Given the description of an element on the screen output the (x, y) to click on. 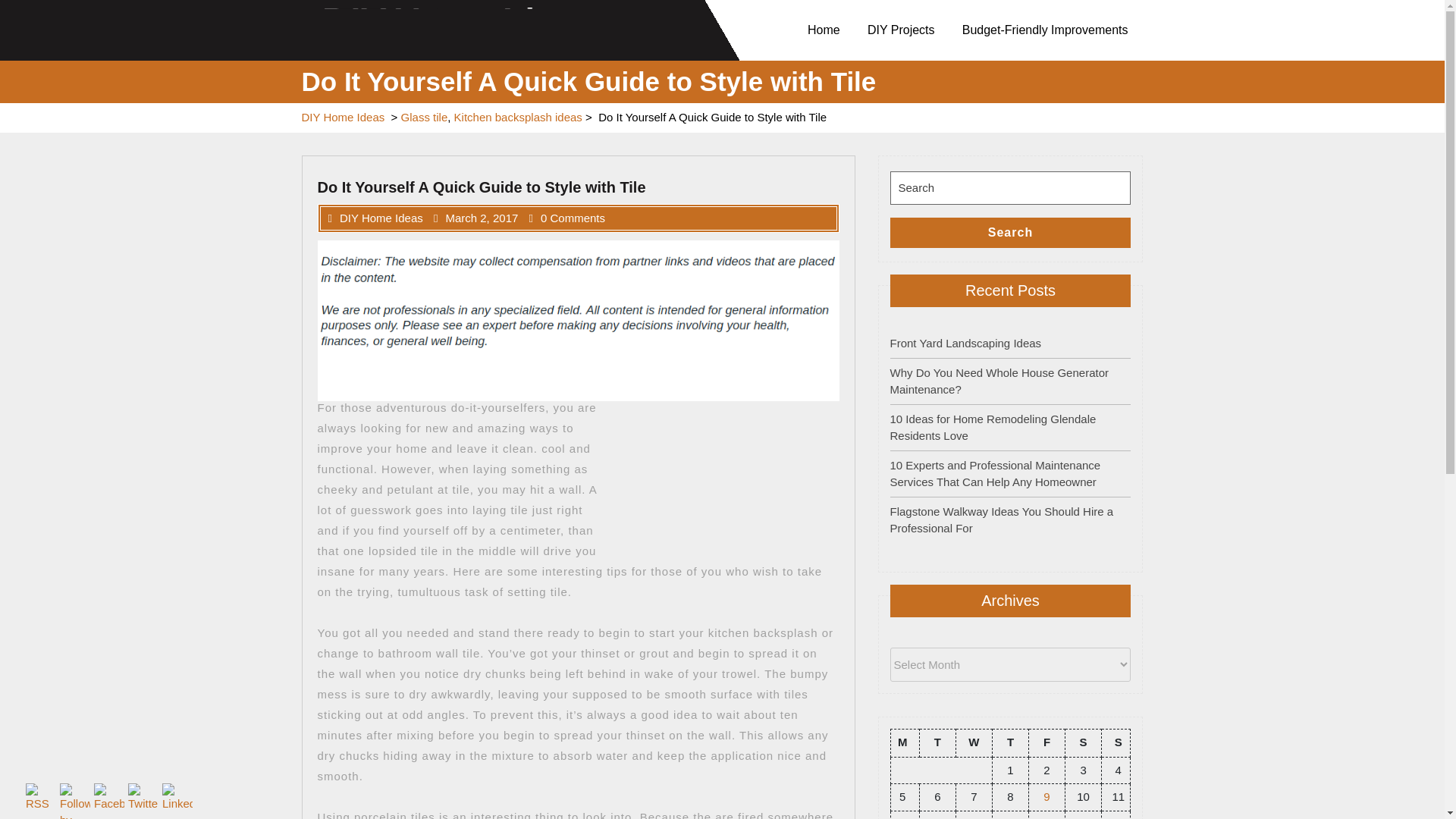
Budget-Friendly Improvements (1047, 29)
DIY Projects (904, 29)
Wednesday (973, 742)
Monday (903, 742)
Glass tile (424, 117)
Facebook (108, 797)
Why Do You Need Whole House Generator Maintenance? (999, 380)
Kitchen backsplash ideas (518, 117)
